Given the description of an element on the screen output the (x, y) to click on. 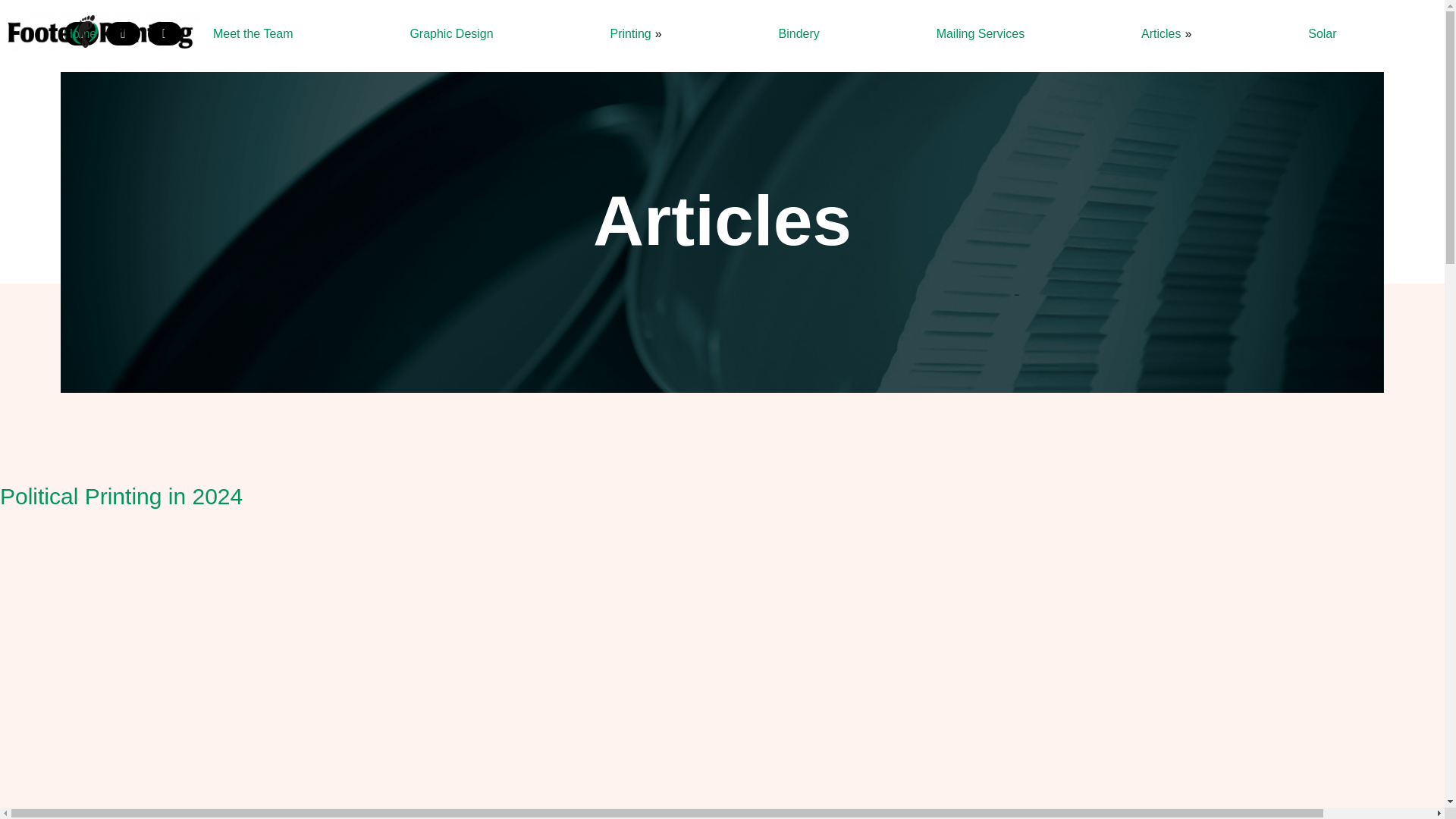
Meet the Team (253, 33)
Home (79, 33)
Mailing Services (979, 33)
Solar (1322, 33)
Graphic Design (451, 33)
Bindery (799, 33)
